Given the description of an element on the screen output the (x, y) to click on. 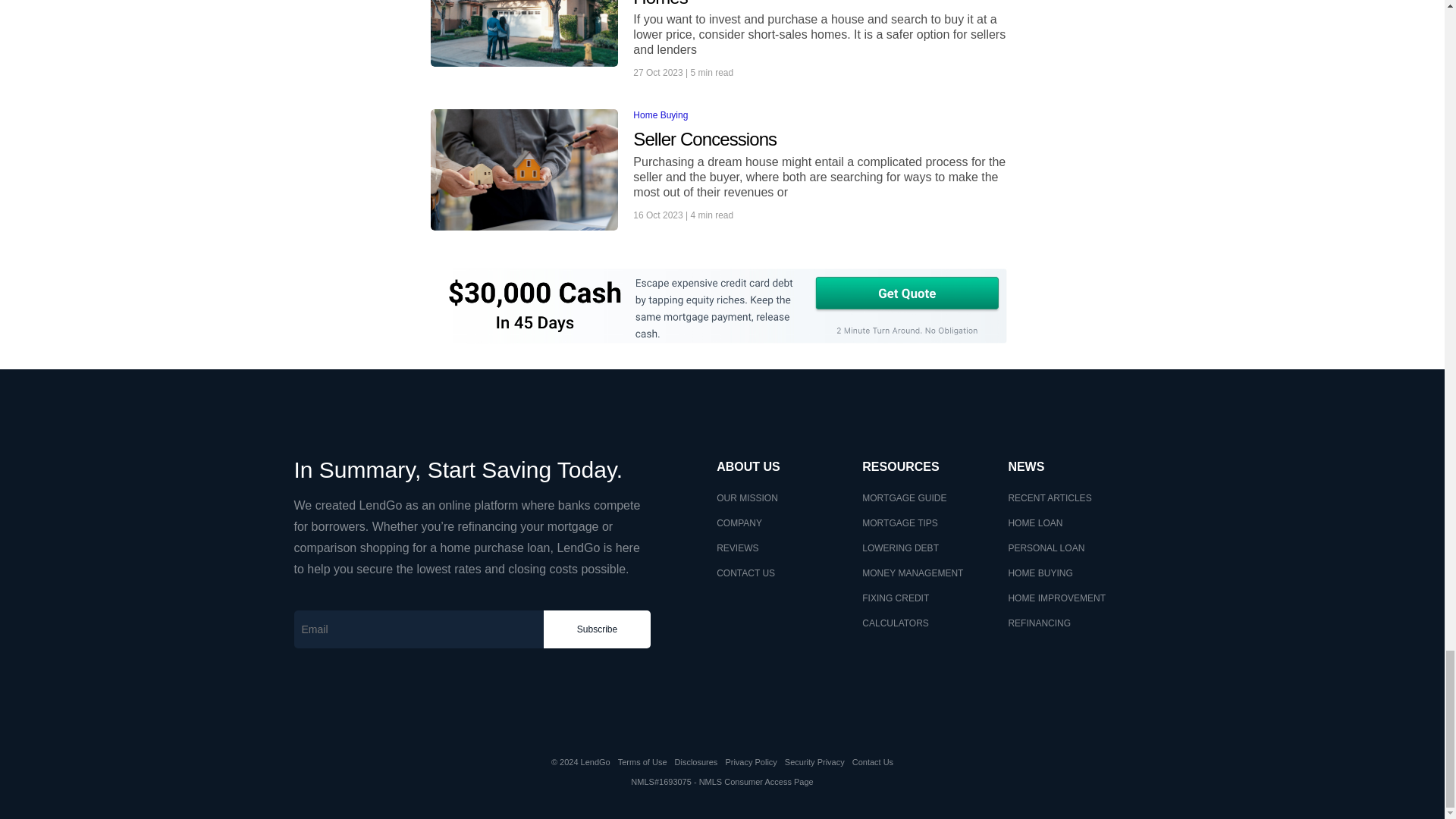
OUR MISSION (746, 498)
Seller Concessions (823, 139)
CONTACT US (745, 573)
COMPANY (738, 522)
Everything You Need To Know About Short Sale Homes (823, 4)
Home Buying (660, 114)
Subscribe (596, 629)
REVIEWS (737, 547)
